Given the description of an element on the screen output the (x, y) to click on. 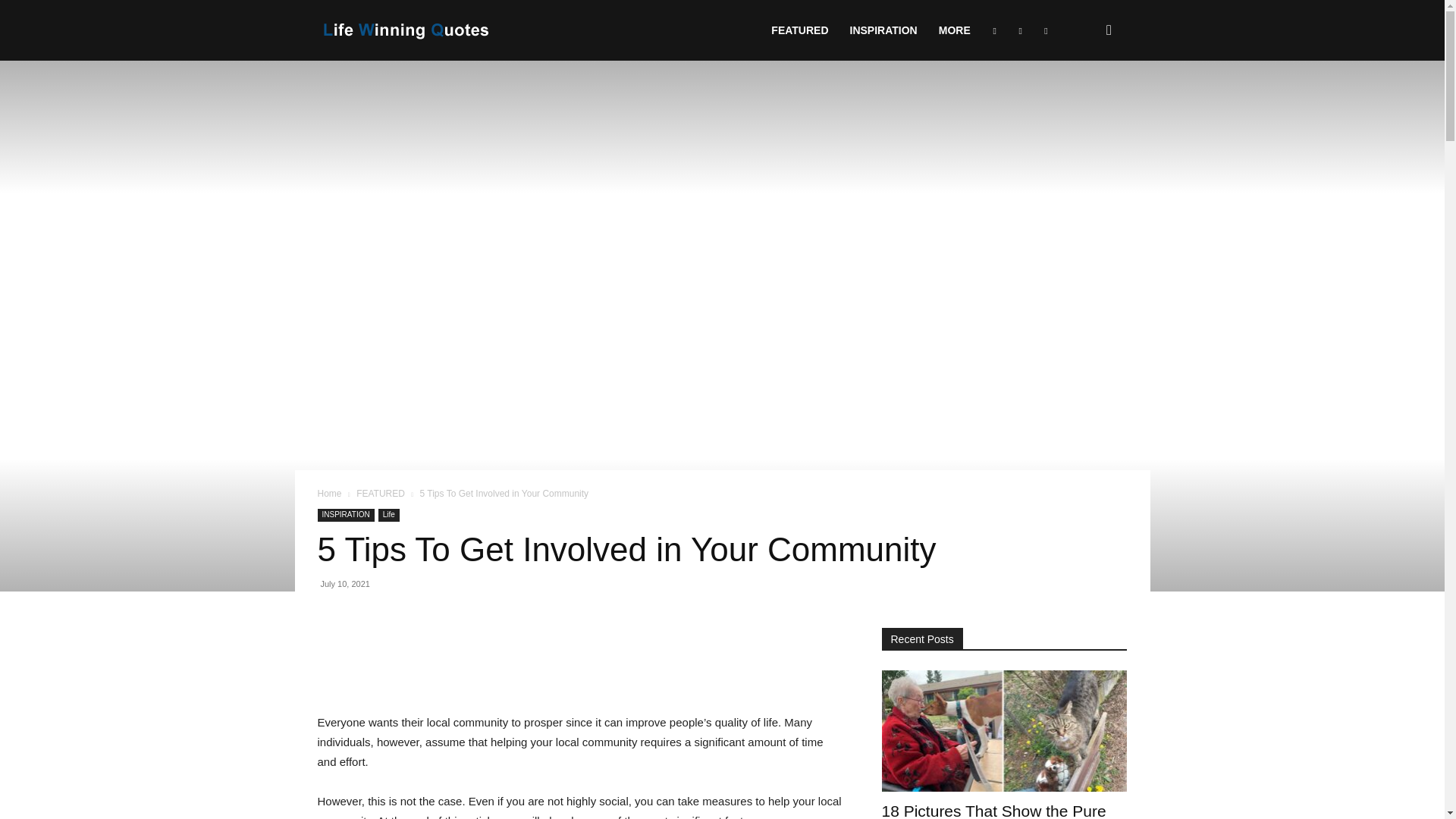
FEATURED (799, 30)
Search (1085, 102)
topFacebookLike (430, 635)
Life Winning Quotes (406, 30)
View all posts in FEATURED (380, 493)
